Given the description of an element on the screen output the (x, y) to click on. 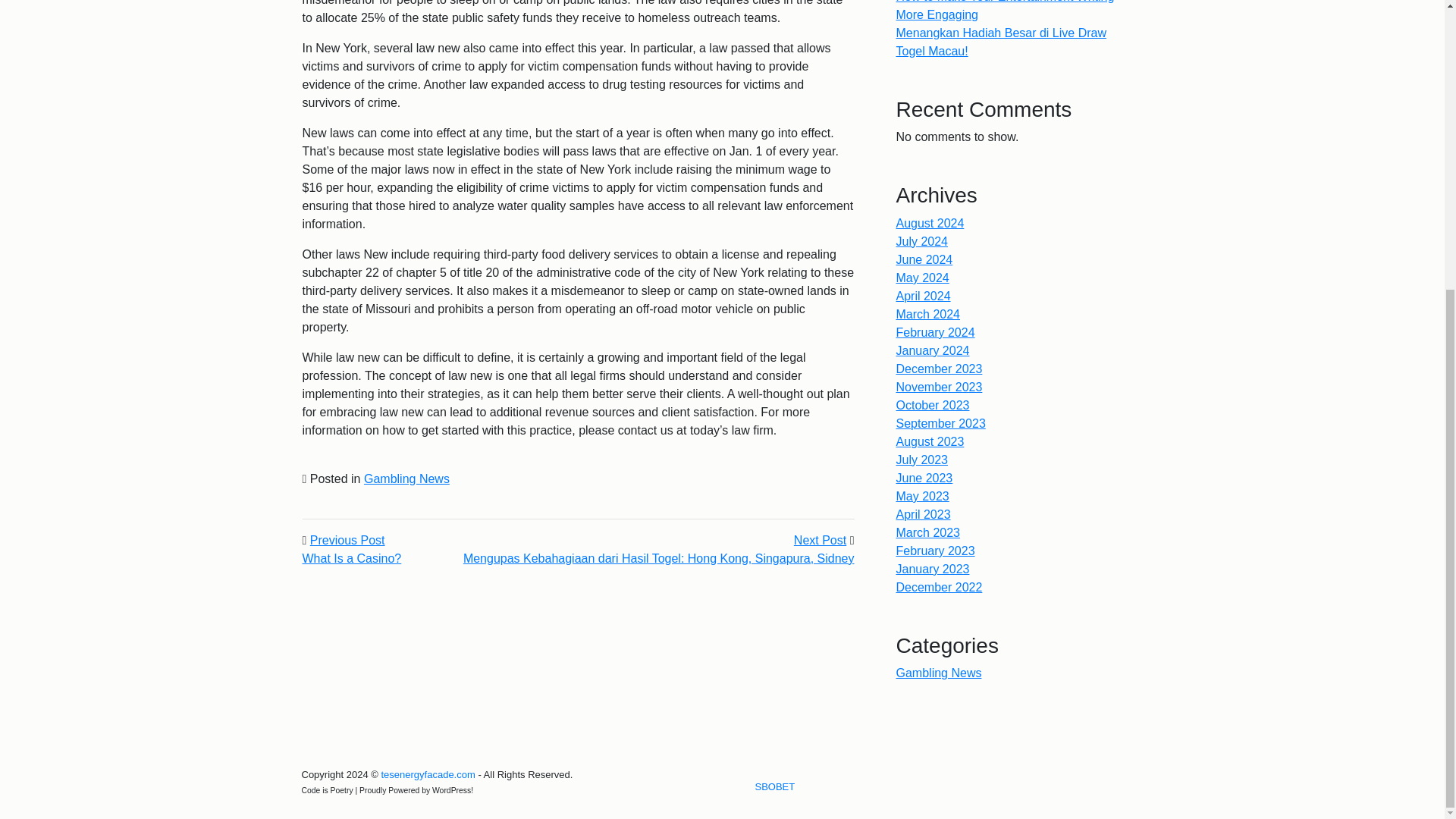
April 2024 (923, 295)
February 2024 (935, 332)
How to Make Your Entertainment Writing More Engaging (1005, 10)
SBOBET (775, 786)
August 2024 (929, 223)
March 2024 (928, 314)
SBOBET (775, 786)
September 2023 (940, 422)
July 2024 (922, 241)
Menangkan Hadiah Besar di Live Draw Togel Macau! (1001, 41)
